Given the description of an element on the screen output the (x, y) to click on. 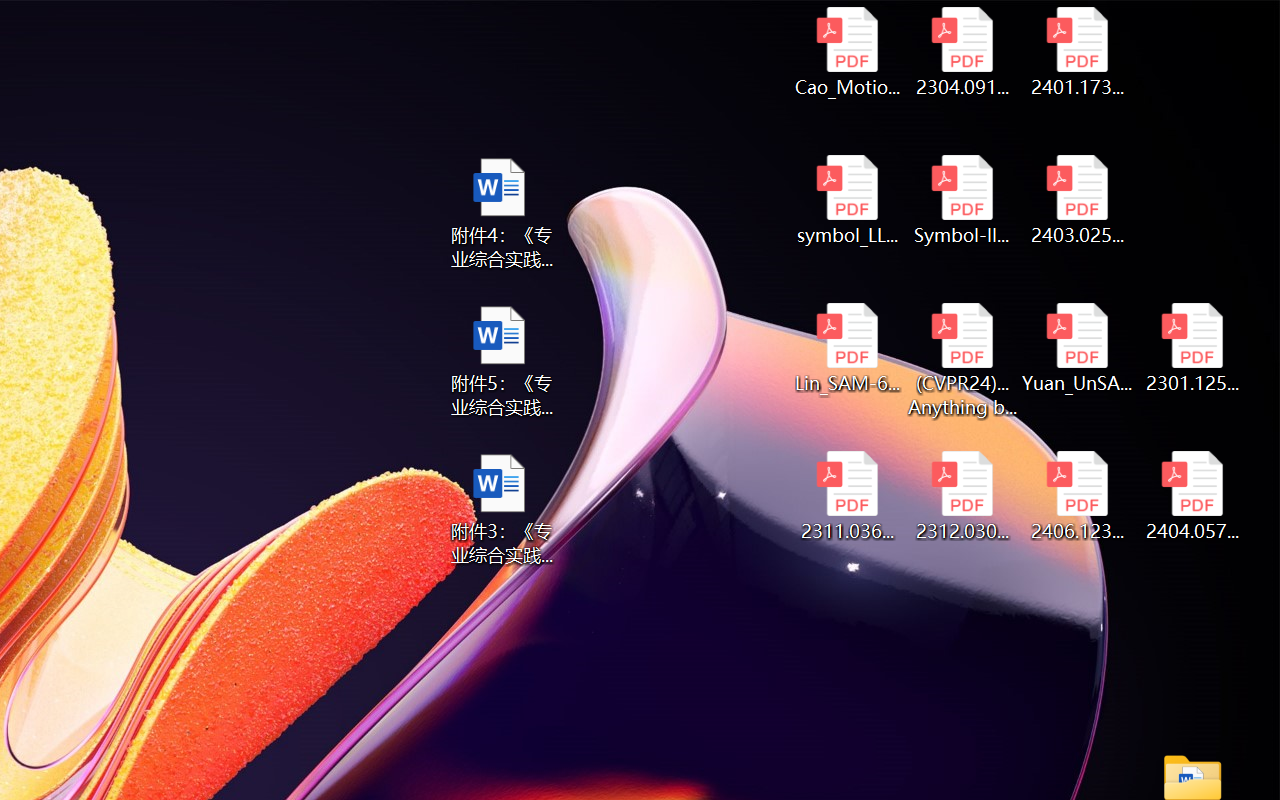
Symbol-llm-v2.pdf (962, 200)
2304.09121v3.pdf (962, 52)
